Given the description of an element on the screen output the (x, y) to click on. 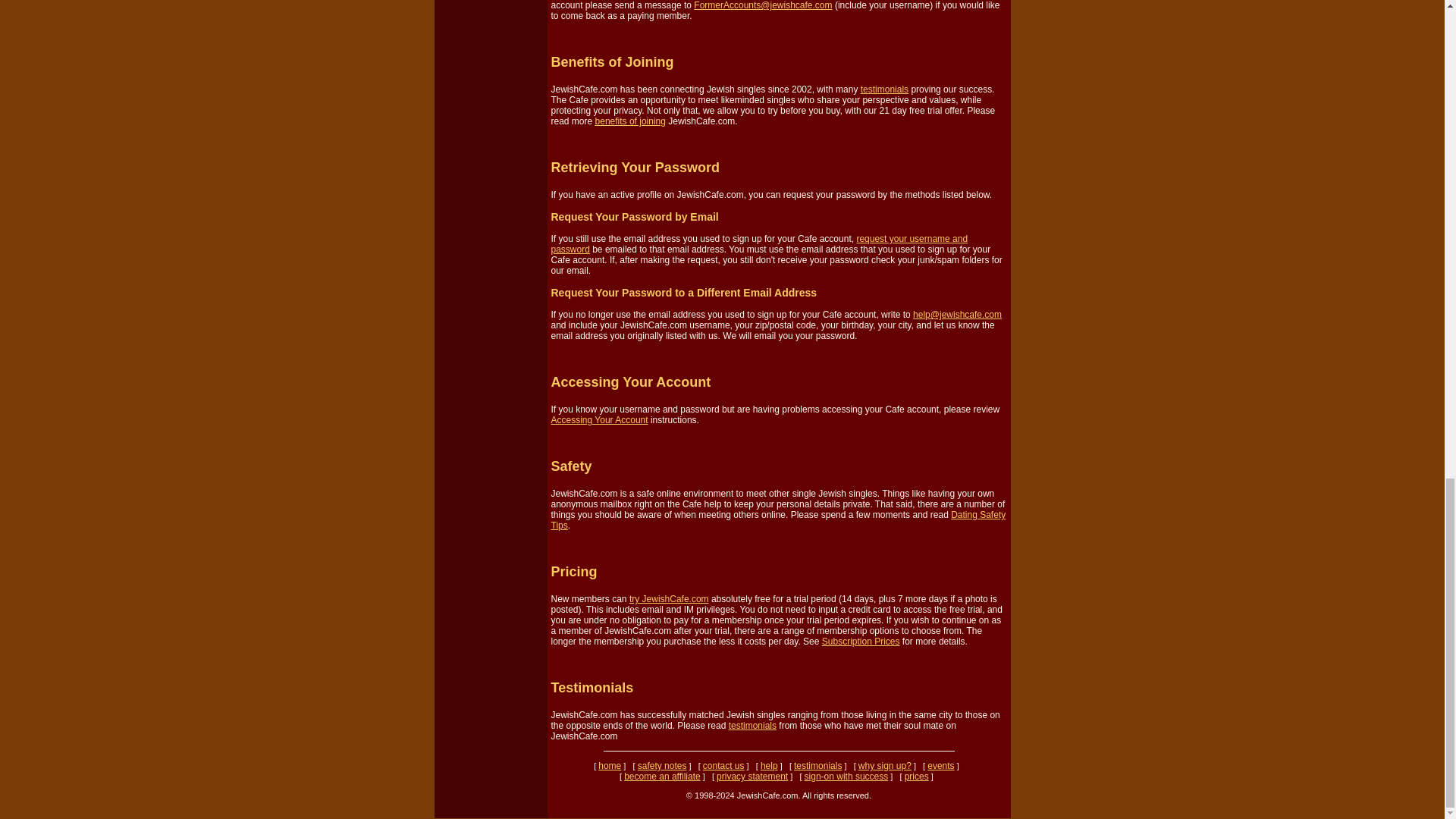
benefits of joining (630, 121)
Dating Safety Tips (778, 519)
request your username and password (759, 243)
testimonials (884, 89)
Accessing Your Account (598, 419)
